Given the description of an element on the screen output the (x, y) to click on. 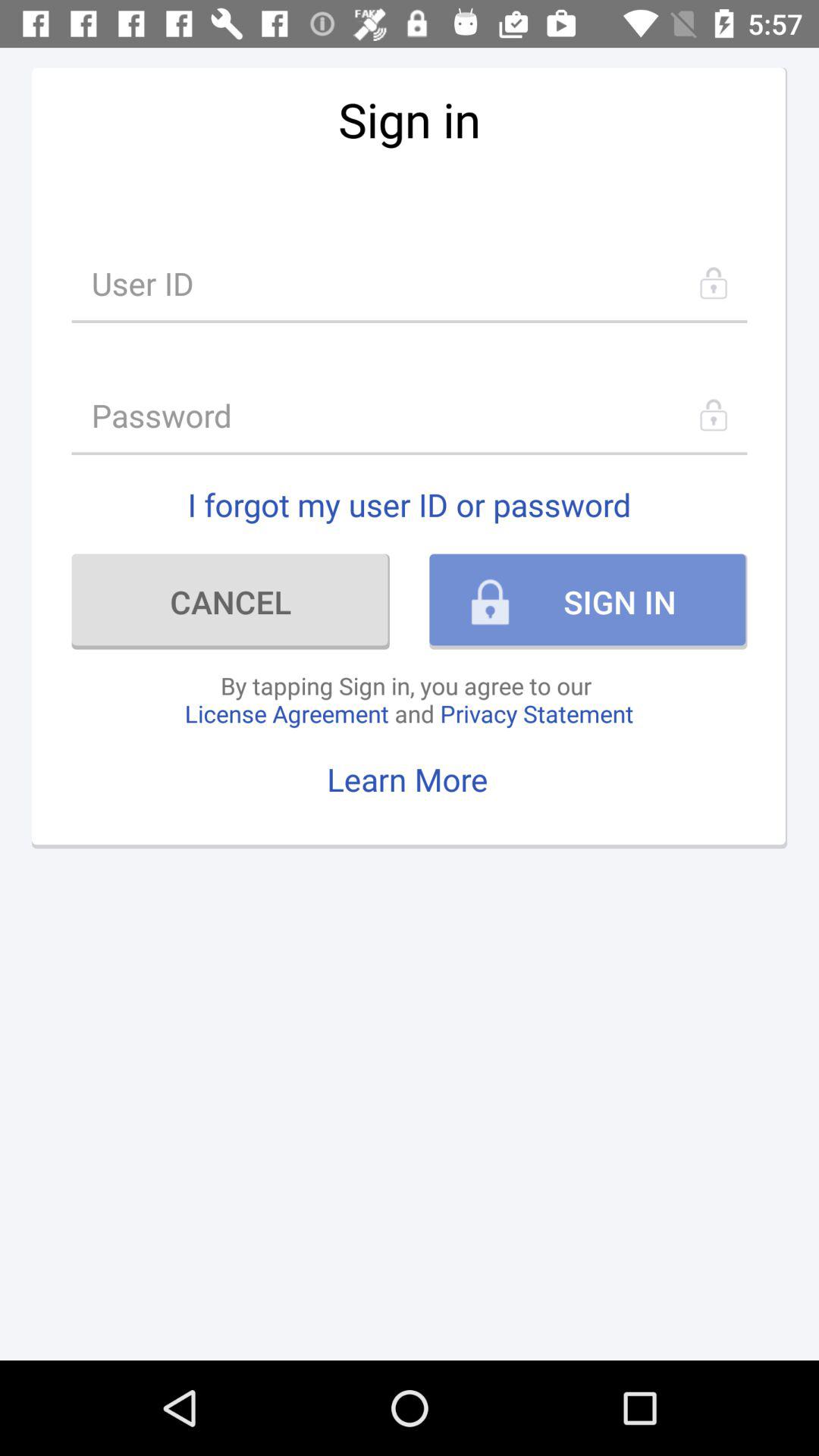
enter user id (409, 283)
